Given the description of an element on the screen output the (x, y) to click on. 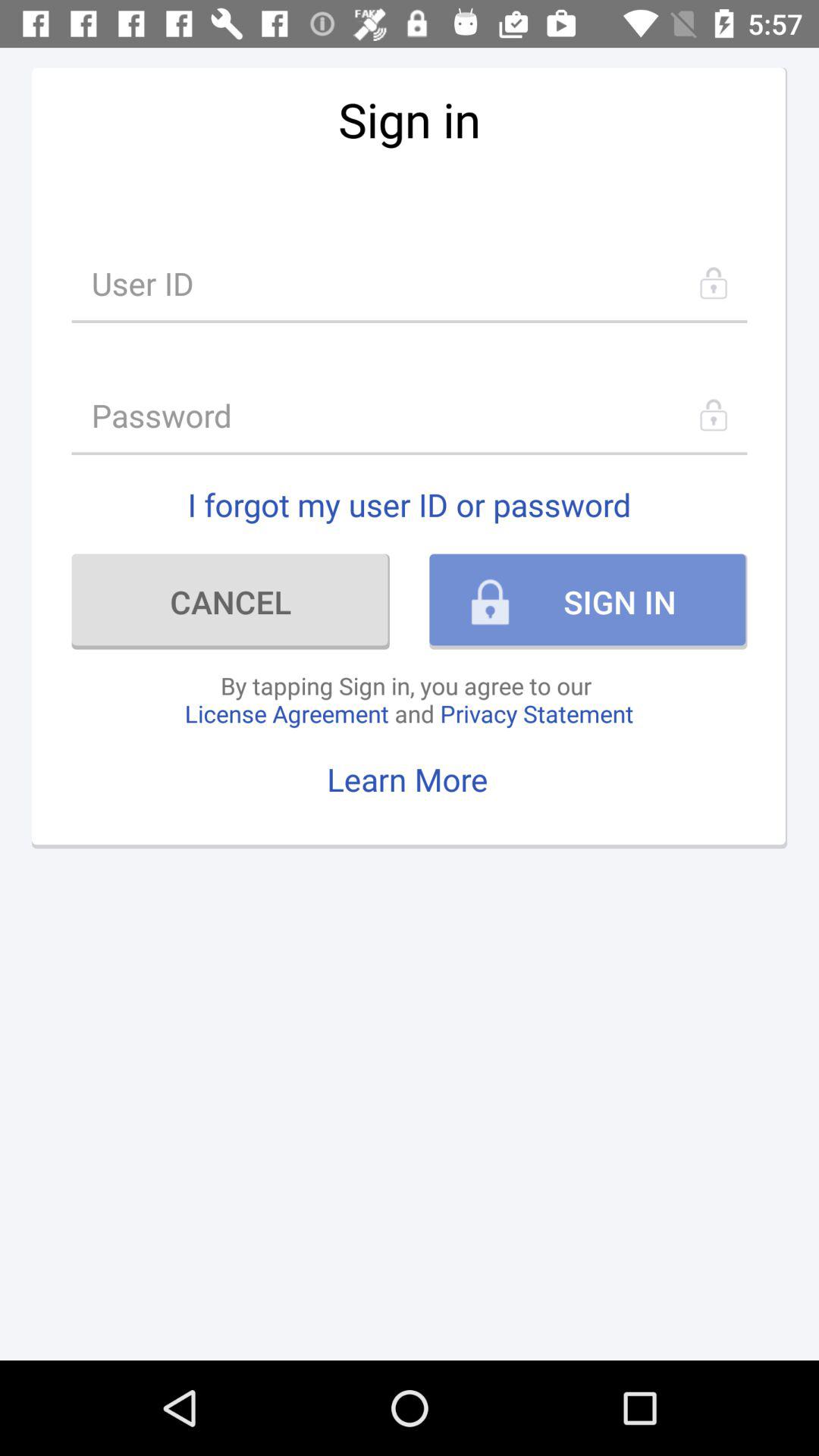
enter user id (409, 283)
